Given the description of an element on the screen output the (x, y) to click on. 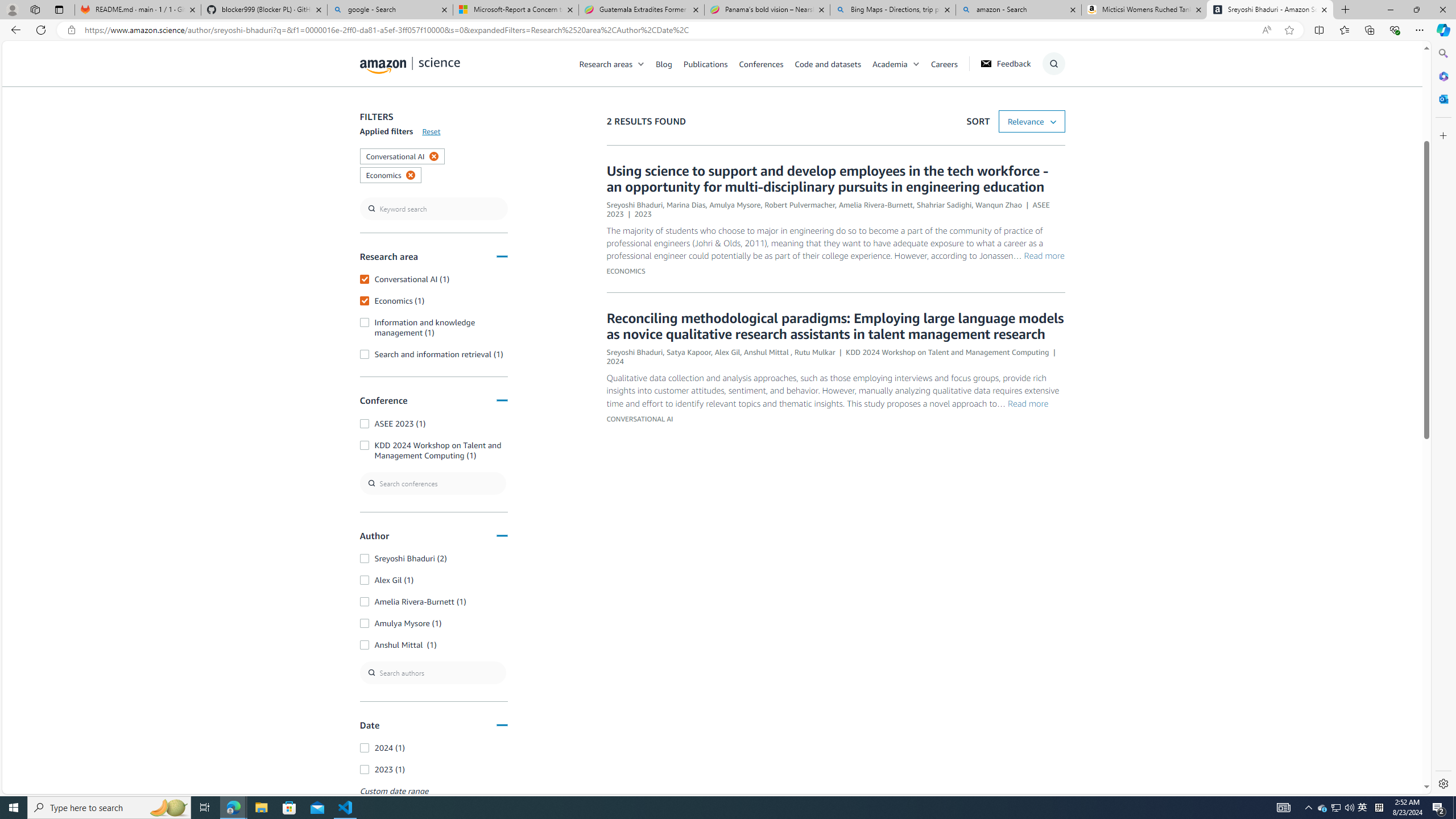
Careers (944, 63)
Alex Gil (727, 352)
Blog (663, 63)
Research areas (617, 63)
Robert Pulvermacher (799, 204)
